Given the description of an element on the screen output the (x, y) to click on. 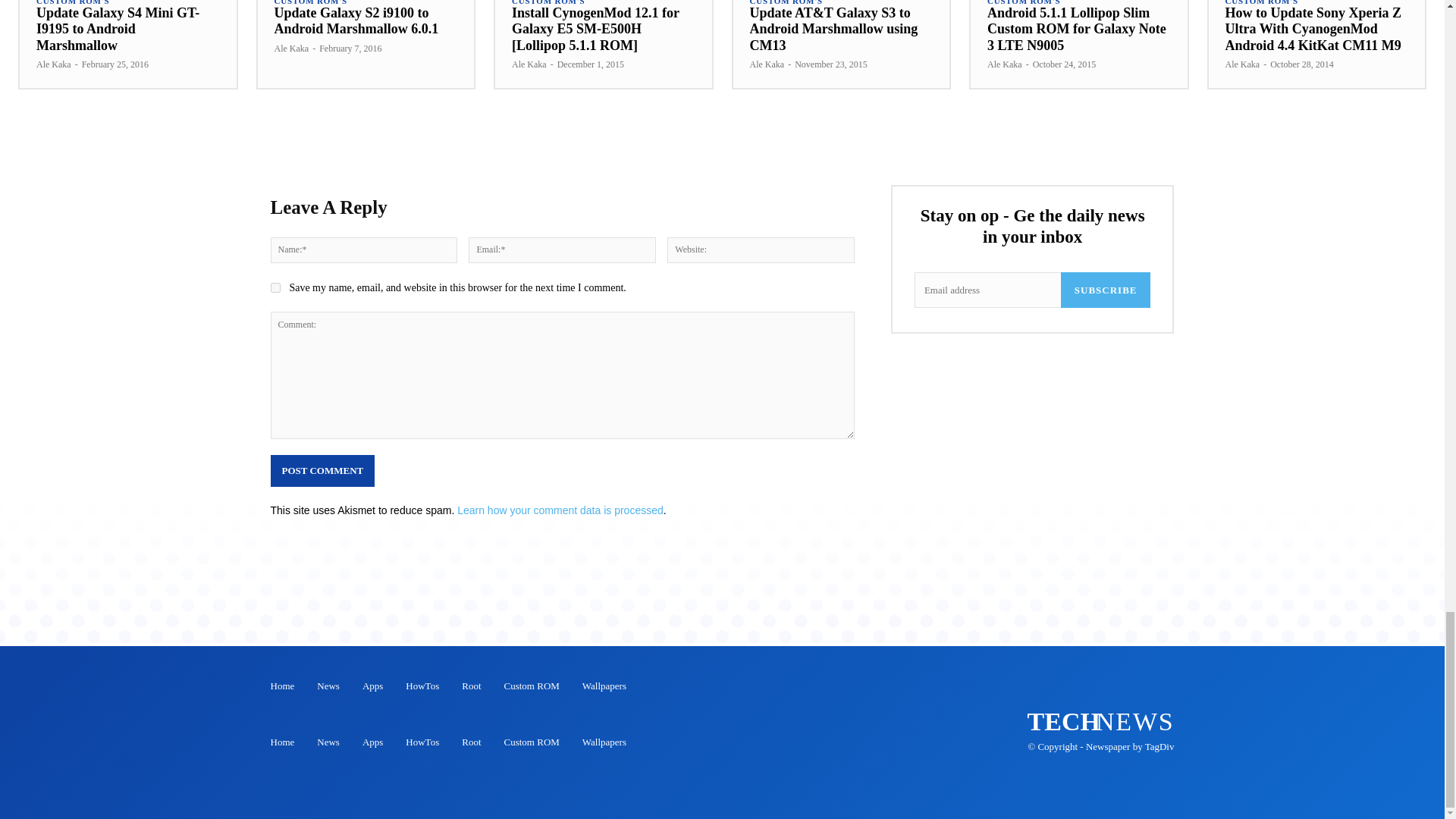
yes (274, 287)
Update Galaxy S4 Mini GT-I9195 to Android Marshmallow (117, 28)
Update Galaxy S2 i9100 to Android Marshmallow 6.0.1 (357, 20)
Post Comment (321, 470)
